Given the description of an element on the screen output the (x, y) to click on. 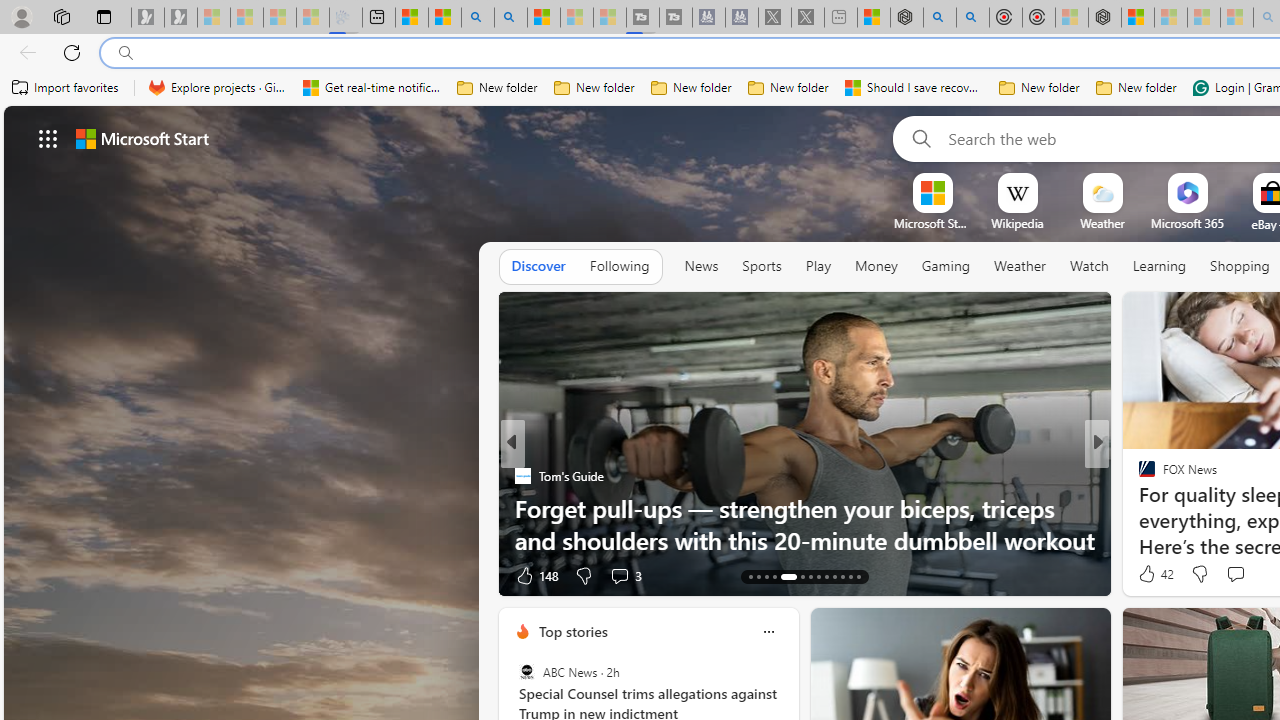
Play (818, 267)
ABC News (526, 672)
Microsoft start (142, 138)
AutomationID: tab-23 (842, 576)
AutomationID: tab-15 (765, 576)
148 Like (535, 574)
Tom's Guide (522, 475)
AutomationID: waffle (47, 138)
Class: control (47, 138)
AutomationID: tab-17 (788, 576)
View comments 8 Comment (1229, 575)
